Given the description of an element on the screen output the (x, y) to click on. 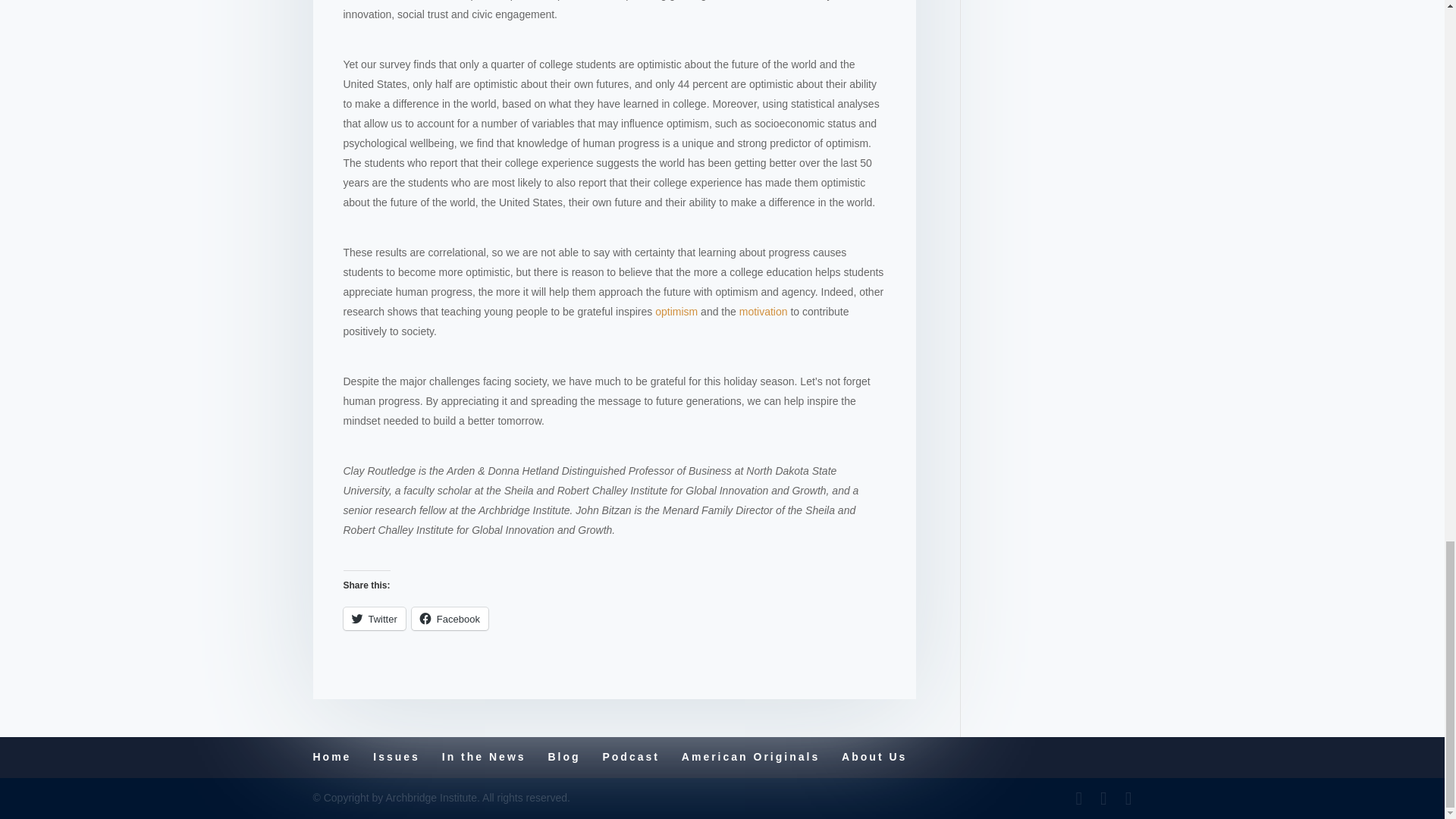
Home (331, 756)
Click to share on Twitter (373, 618)
optimism (676, 311)
 motivation (761, 311)
Twitter (373, 618)
Issues (396, 756)
Click to share on Facebook (449, 618)
Facebook (449, 618)
 research (374, 0)
